Given the description of an element on the screen output the (x, y) to click on. 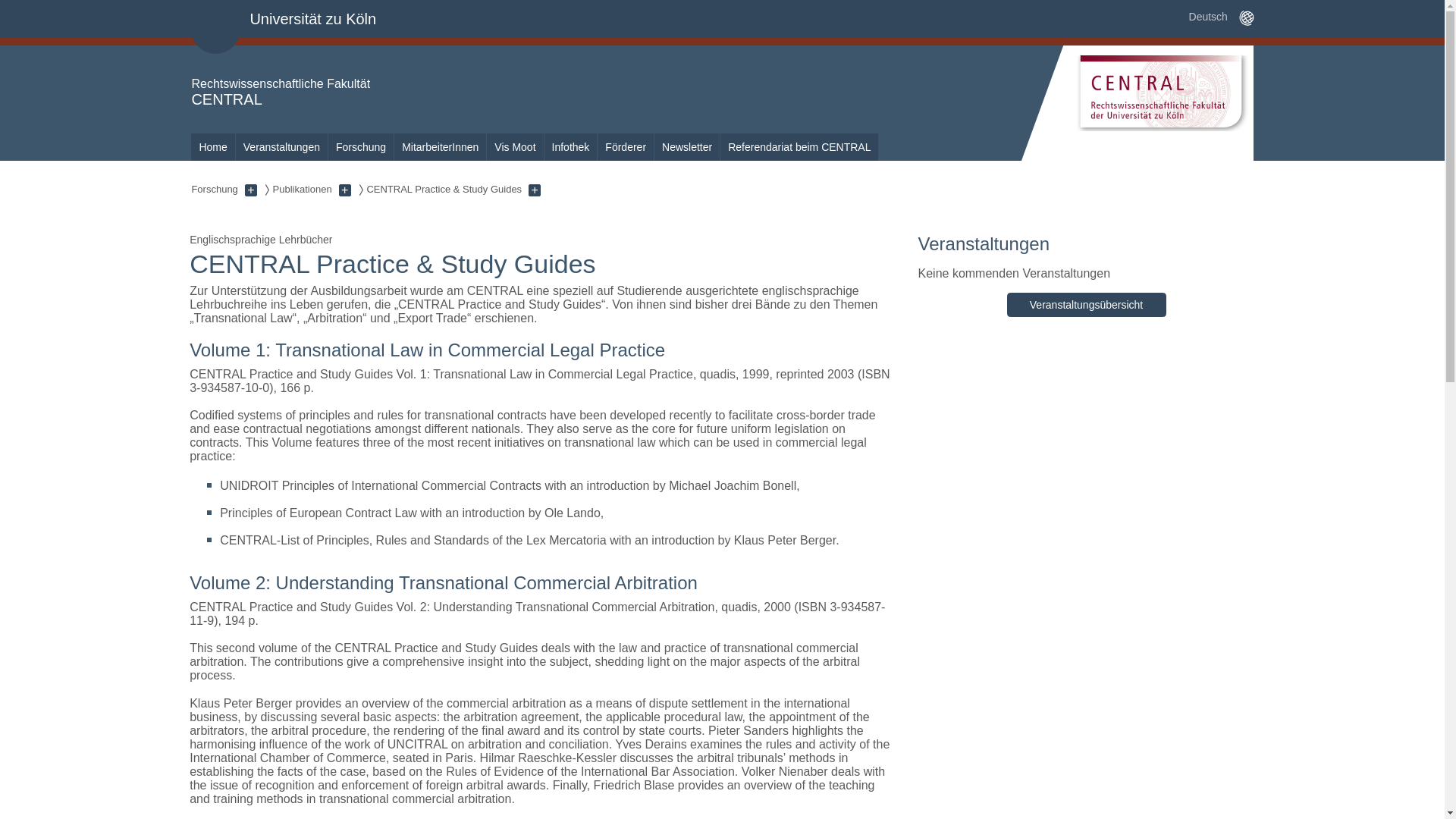
Unterseiten anzeigen (250, 190)
Home (212, 146)
MitarbeiterInnen (440, 146)
Vis Moot (514, 146)
Infothek (570, 146)
Veranstaltungen (281, 146)
Unterseiten anzeigen (534, 190)
Unterseiten anzeigen (344, 190)
Forschung (361, 146)
